Given the description of an element on the screen output the (x, y) to click on. 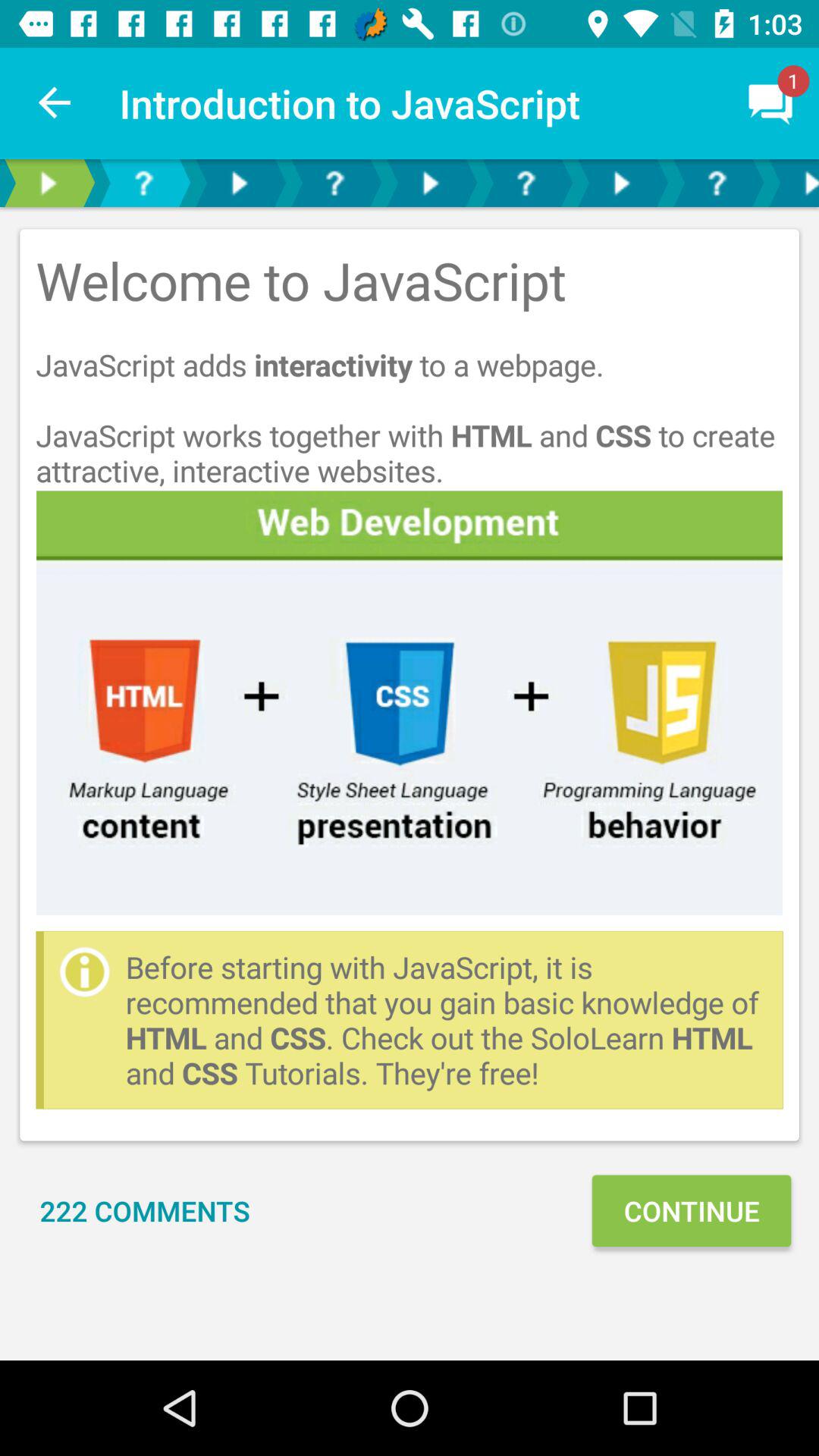
press continue (691, 1210)
